Given the description of an element on the screen output the (x, y) to click on. 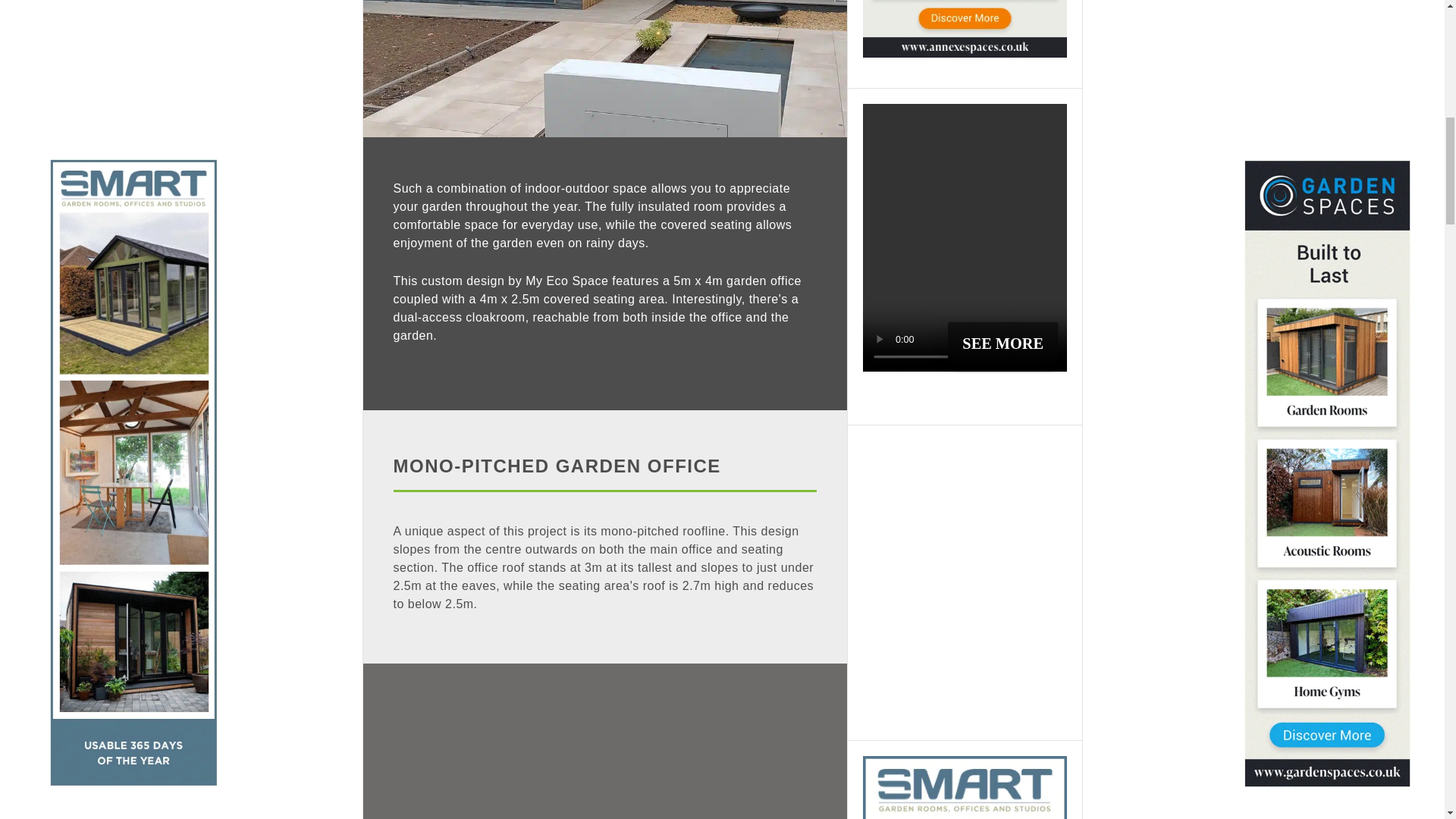
Slate clad garden office by My Eco Space-3 (603, 741)
Slate clad garden office by My Eco Space-4 (603, 68)
